Given the description of an element on the screen output the (x, y) to click on. 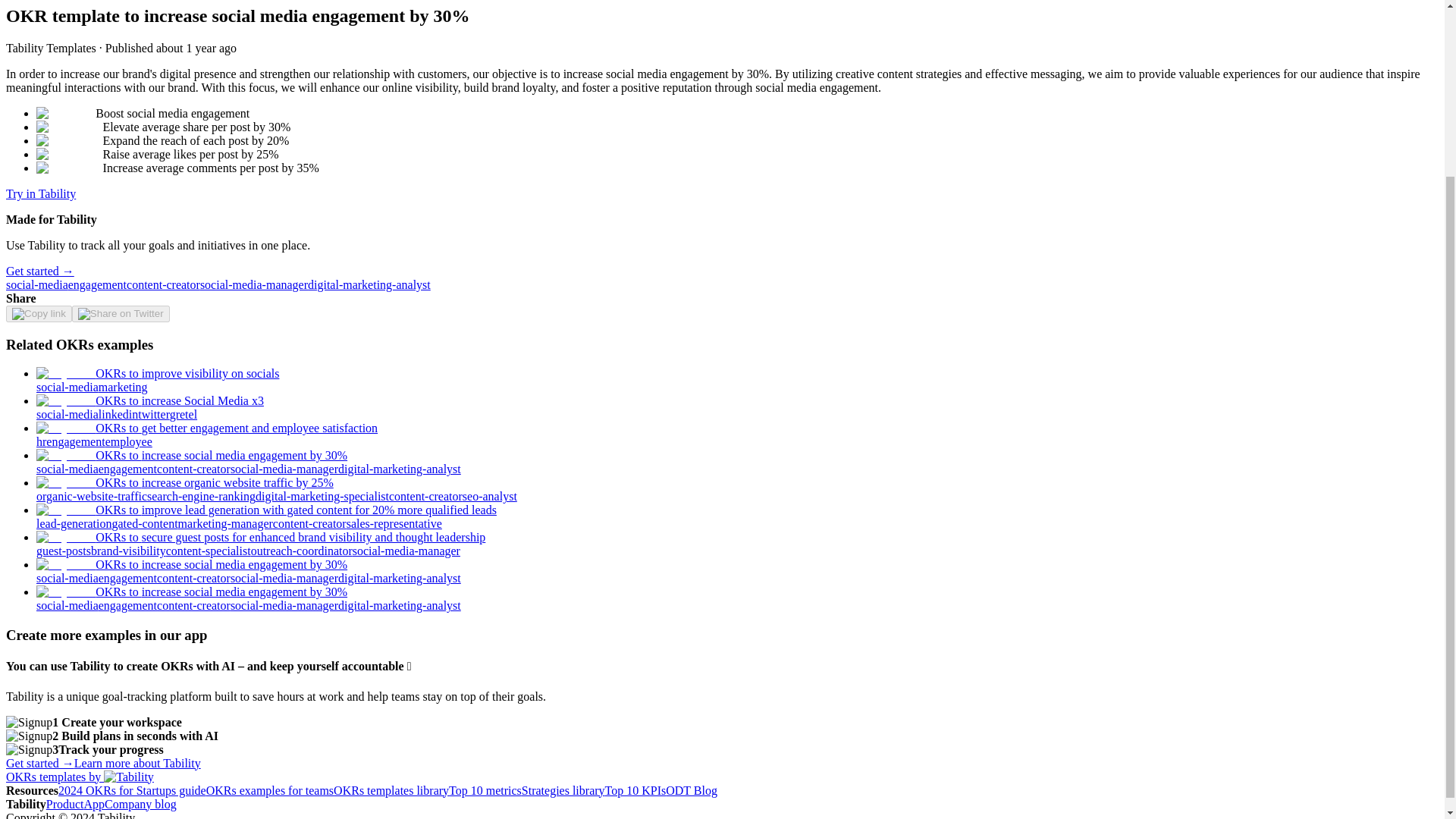
marketing (123, 386)
engagement (97, 284)
social-media-manager (253, 284)
gretel (183, 413)
social-media (36, 284)
OKRs to increase Social Media x3 (149, 400)
engagement (75, 440)
OKRs to improve visibility on socials (157, 373)
social-media (67, 413)
employee (128, 440)
twitter (153, 413)
social-media (67, 386)
Try in Tability (40, 193)
digital-marketing-analyst (368, 284)
linkedin (118, 413)
